Given the description of an element on the screen output the (x, y) to click on. 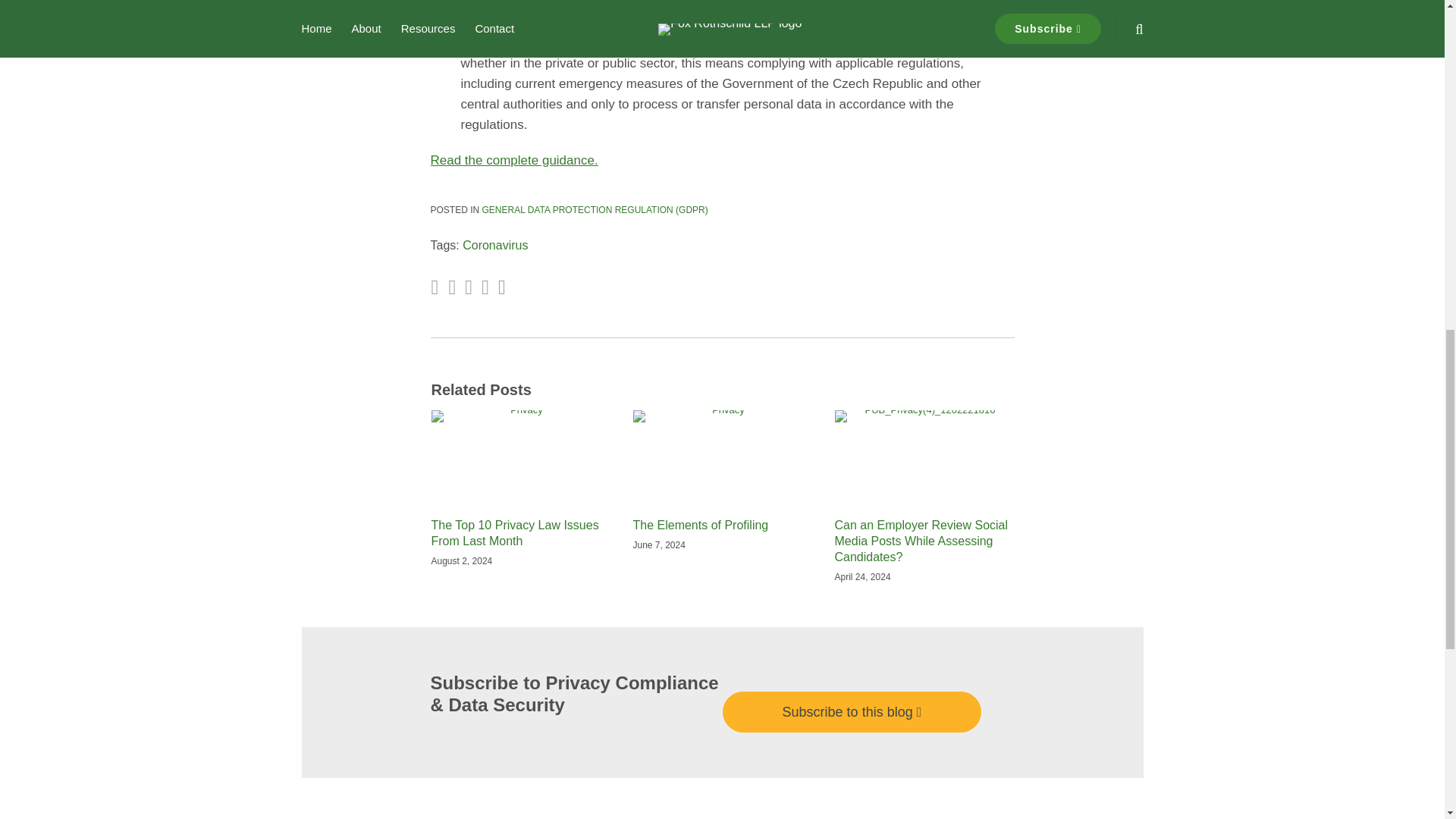
Coronavirus (495, 245)
The Elements of Profiling (699, 525)
The Top 10 Privacy Law Issues From Last Month (520, 533)
Read the complete guidance. (514, 160)
Subscribe to this blog (851, 711)
